Given the description of an element on the screen output the (x, y) to click on. 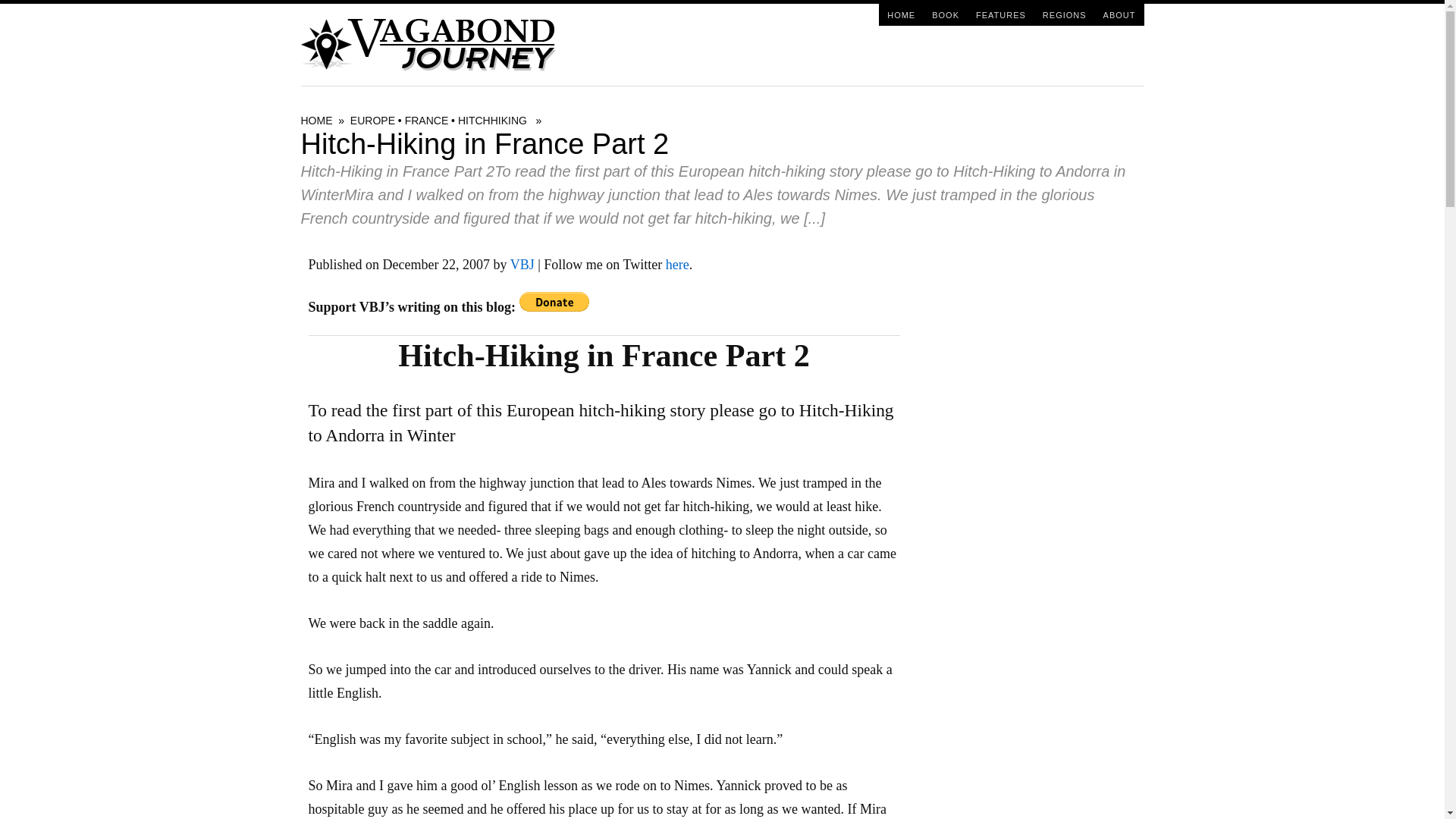
REGIONS (1063, 14)
BOOK (945, 14)
ABOUT (1119, 14)
Home (901, 14)
FRANCE (426, 120)
VBJ (522, 264)
FEATURES (1000, 14)
here (676, 264)
HITCHHIKING (492, 120)
HOME (901, 14)
